Given the description of an element on the screen output the (x, y) to click on. 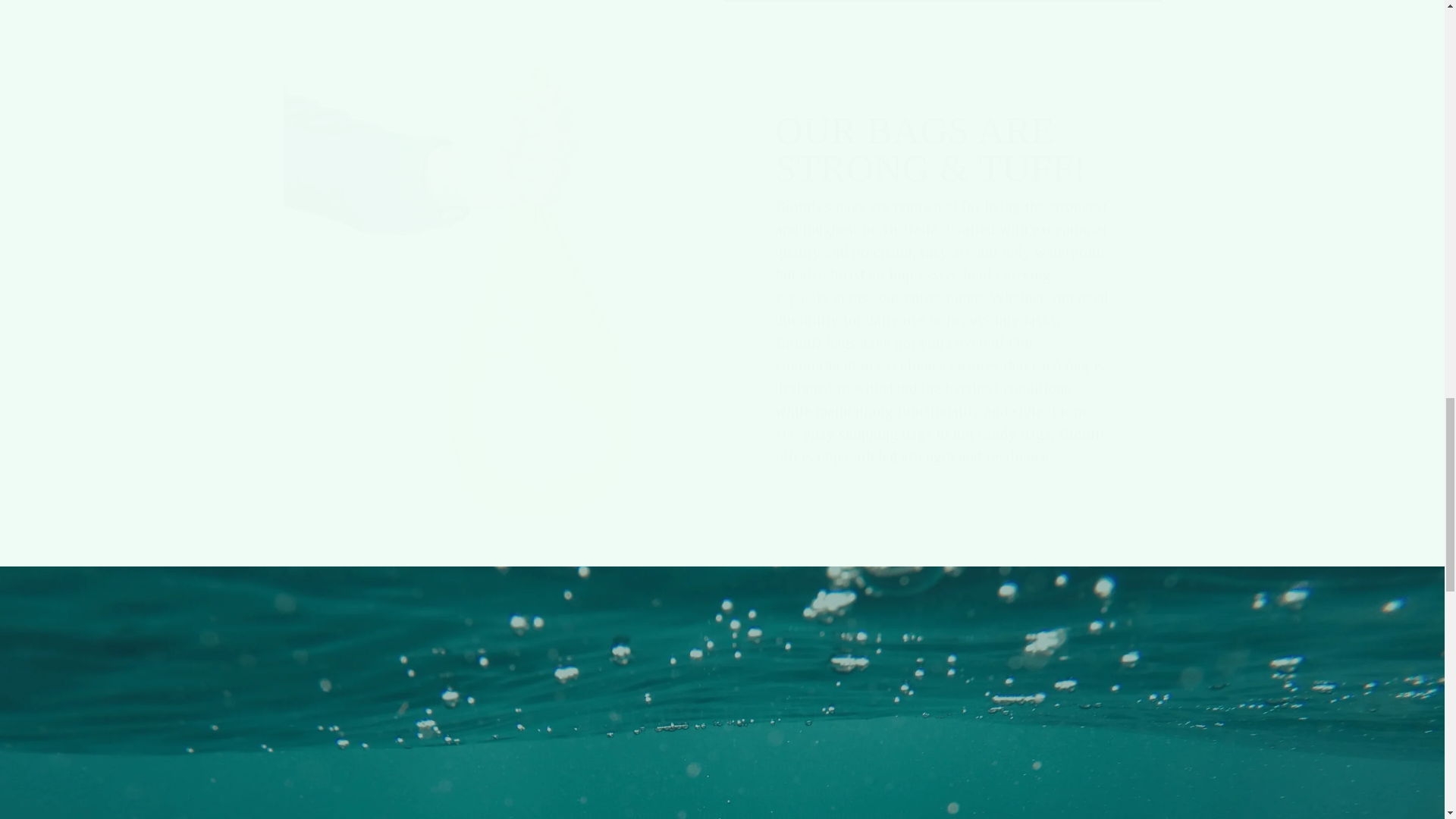
DID YOU KNOW? (722, 670)
130,000 TONNES (721, 717)
